Given the description of an element on the screen output the (x, y) to click on. 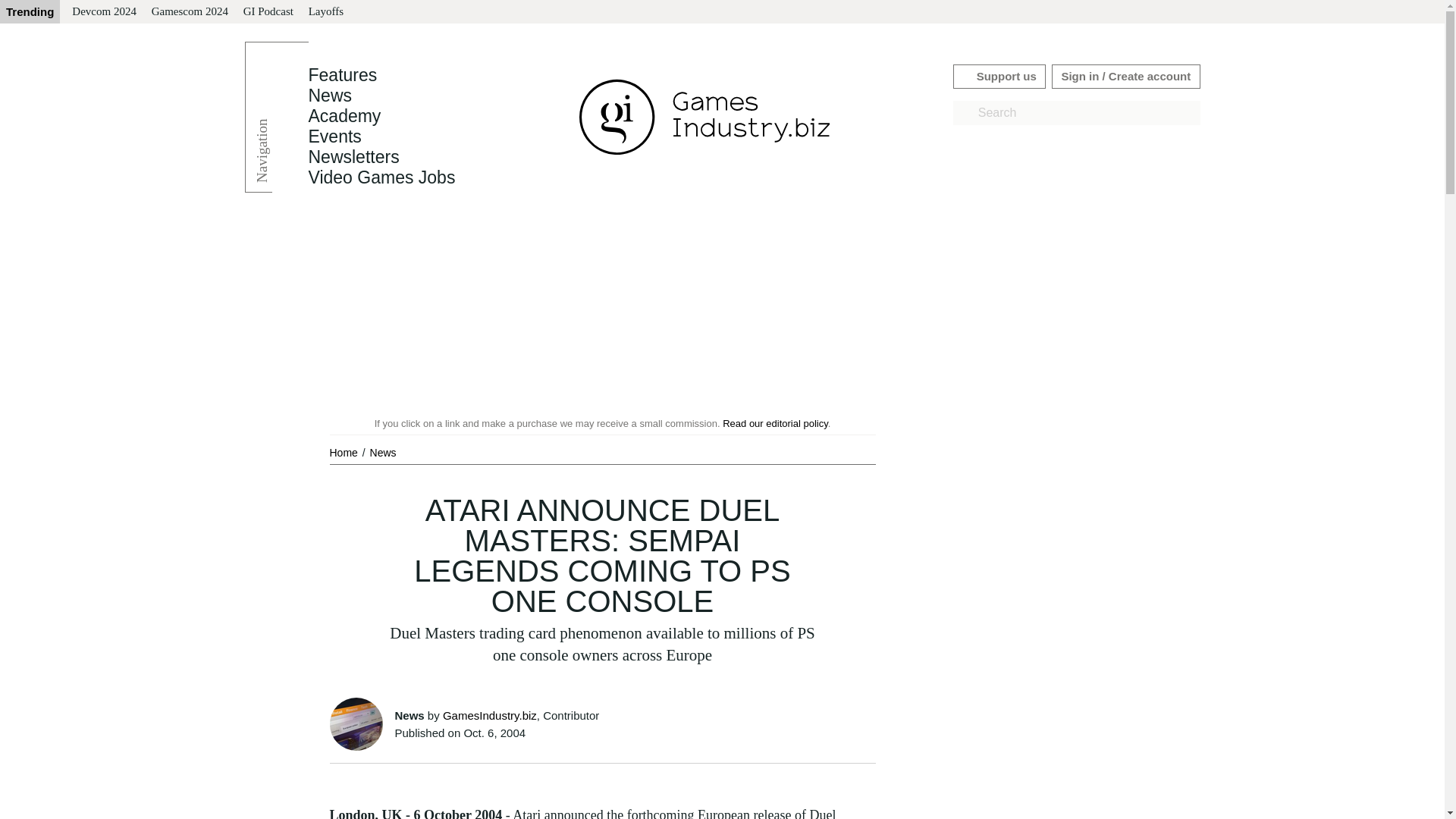
Video Games Jobs (380, 177)
Newsletters (352, 157)
GI Podcast (268, 11)
Devcom 2024 (103, 11)
News (382, 452)
Features (342, 75)
Gamescom 2024 (189, 11)
GI Podcast (268, 11)
News (329, 95)
Layoffs (325, 11)
